Given the description of an element on the screen output the (x, y) to click on. 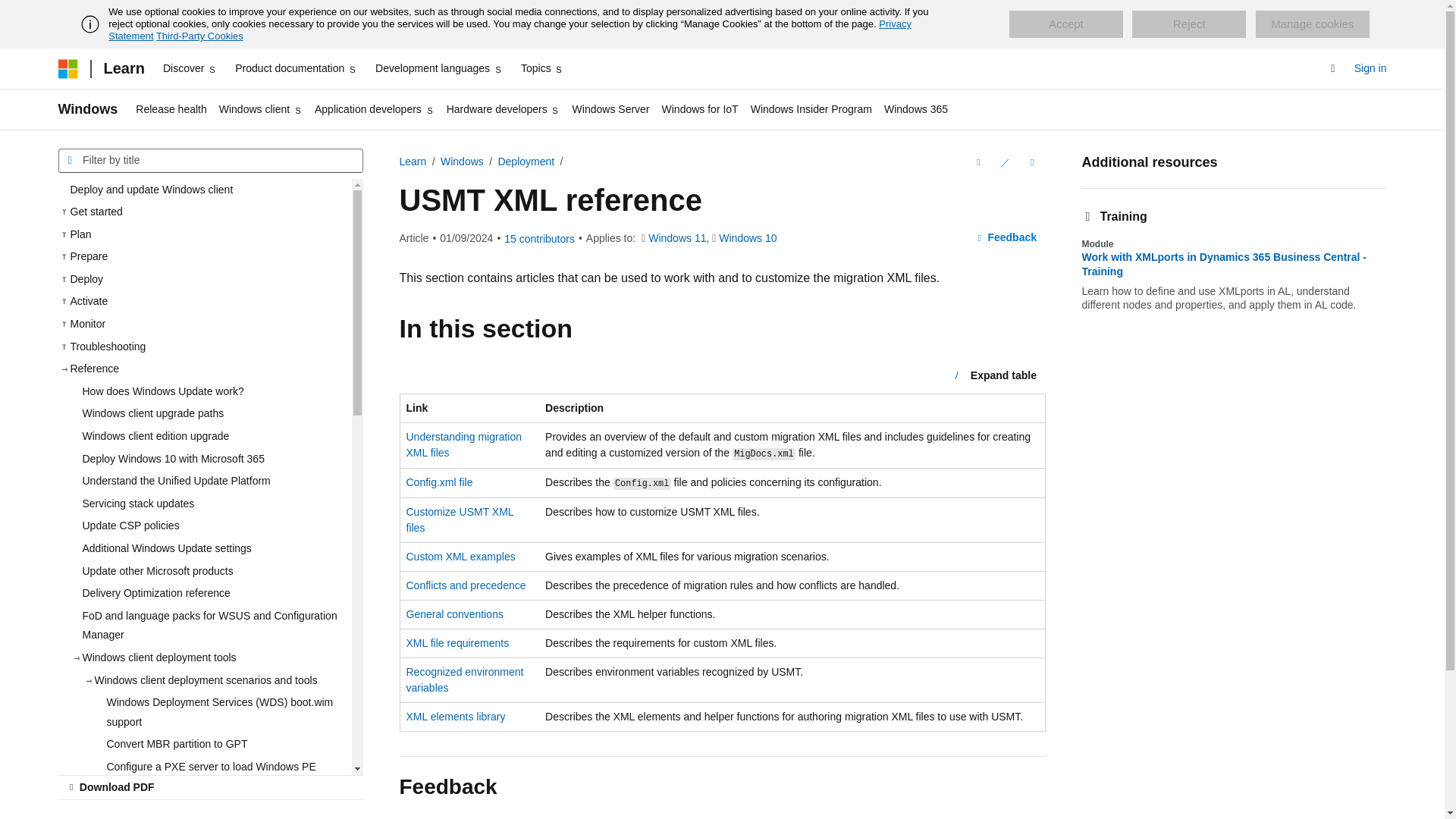
Sign in (1370, 68)
Windows client (260, 109)
Product documentation (295, 68)
Topics (542, 68)
Application developers (374, 109)
More actions (1031, 161)
Windows (87, 109)
Learn (123, 68)
Development languages (438, 68)
Privacy Statement (509, 29)
